Given the description of an element on the screen output the (x, y) to click on. 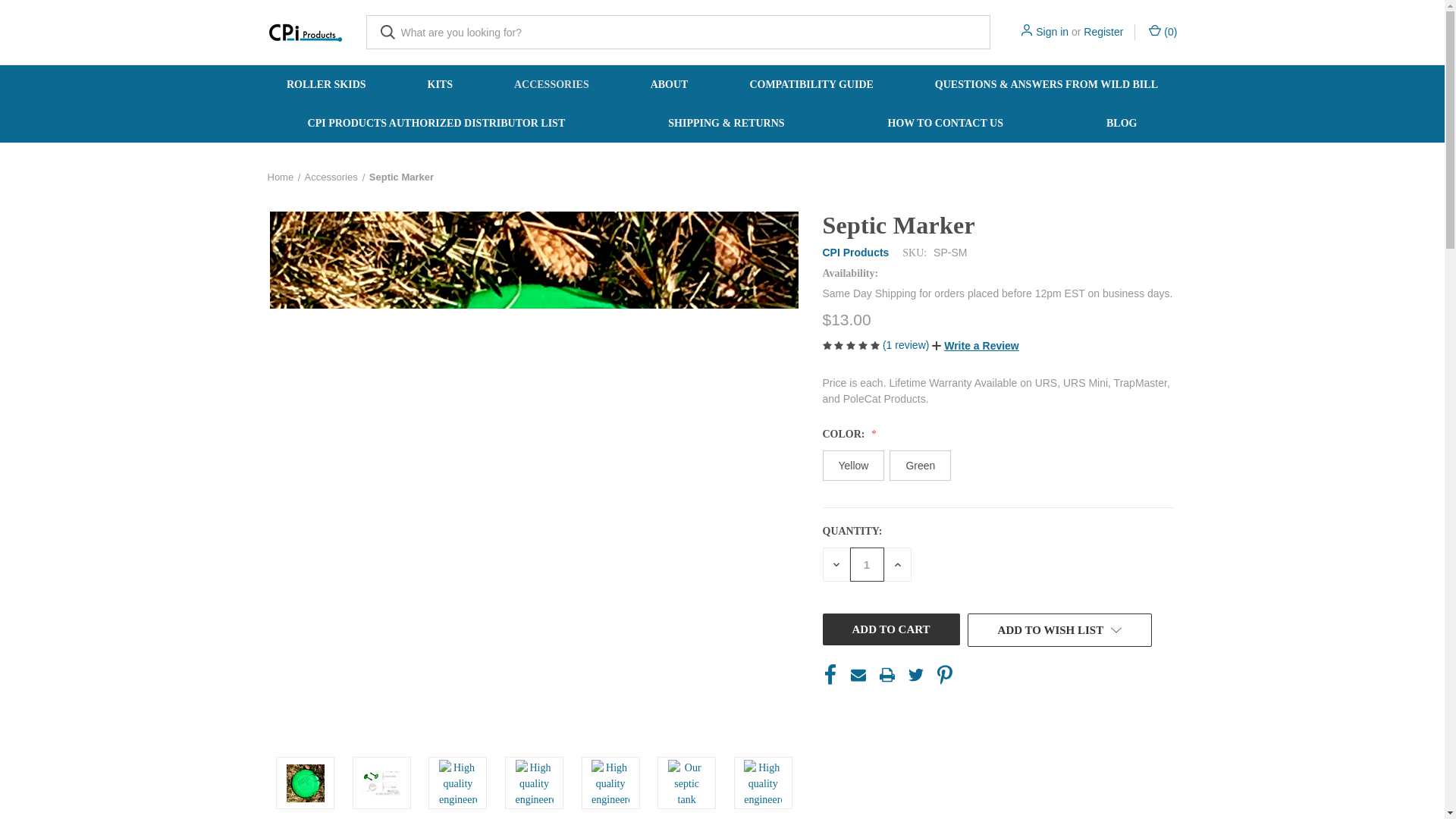
Septic Marker Blueprint (381, 782)
BLOG (1121, 123)
ACCESSORIES (551, 84)
CPI PRODUCTS AUTHORIZED DISTRIBUTOR LIST (436, 123)
Accessories (331, 176)
ROLLER SKIDS (326, 84)
Register (1102, 32)
ABOUT (669, 84)
